Given the description of an element on the screen output the (x, y) to click on. 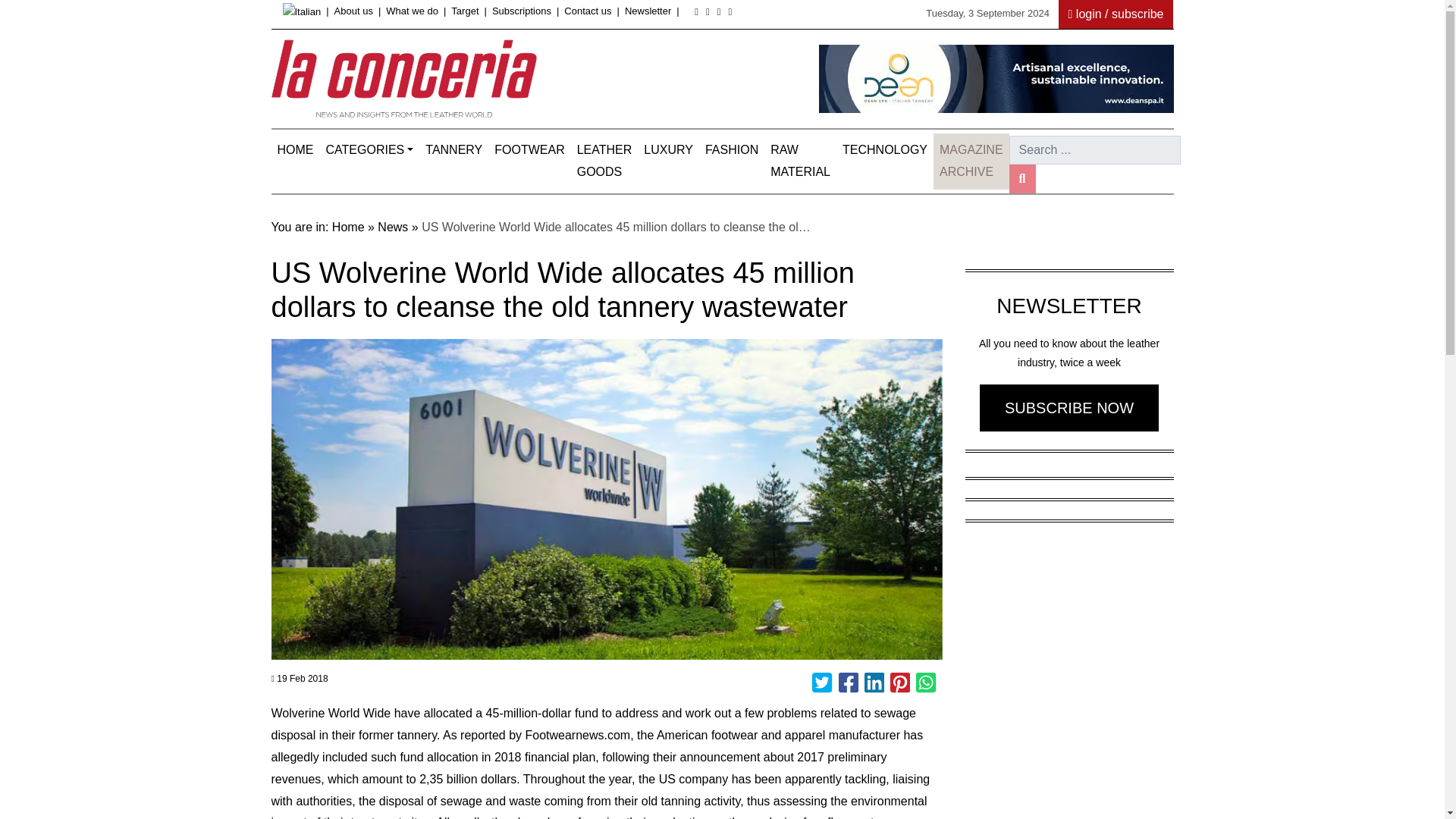
About us (353, 10)
What we do (411, 10)
CATEGORIES (370, 150)
Target (465, 10)
MAGAZINE ARCHIVE (971, 161)
Tannery (453, 150)
HOME (295, 150)
Newsletter (647, 10)
LUXURY (667, 150)
Home (295, 150)
